Given the description of an element on the screen output the (x, y) to click on. 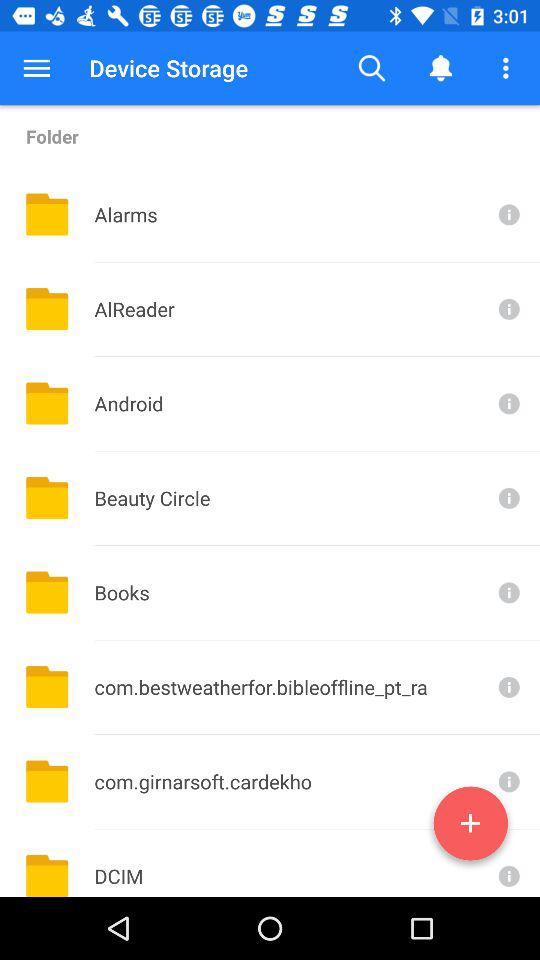
alarm settings (507, 214)
